Given the description of an element on the screen output the (x, y) to click on. 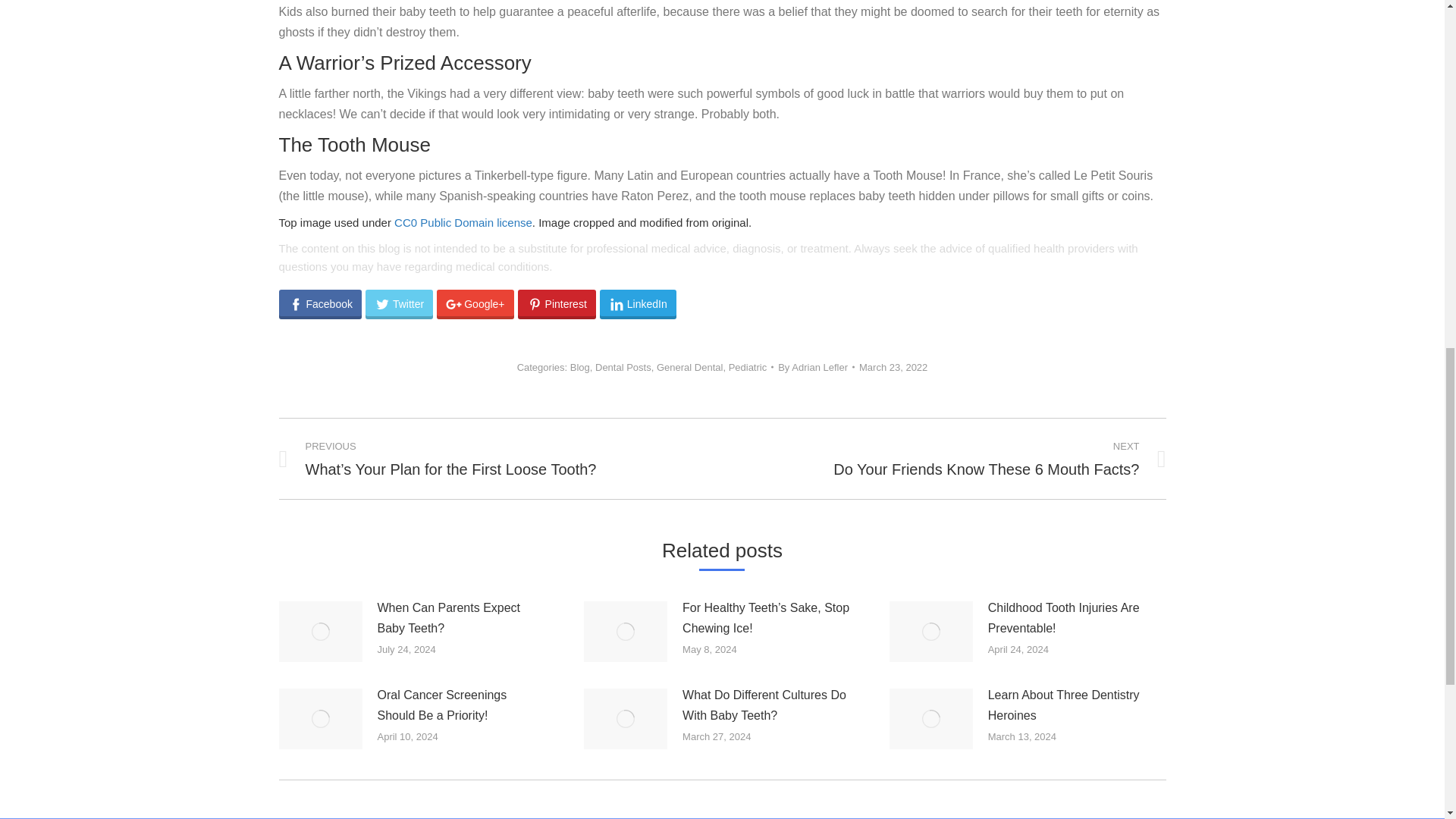
9:15 pm (893, 366)
View all posts by Adrian Lefler (815, 366)
